Given the description of an element on the screen output the (x, y) to click on. 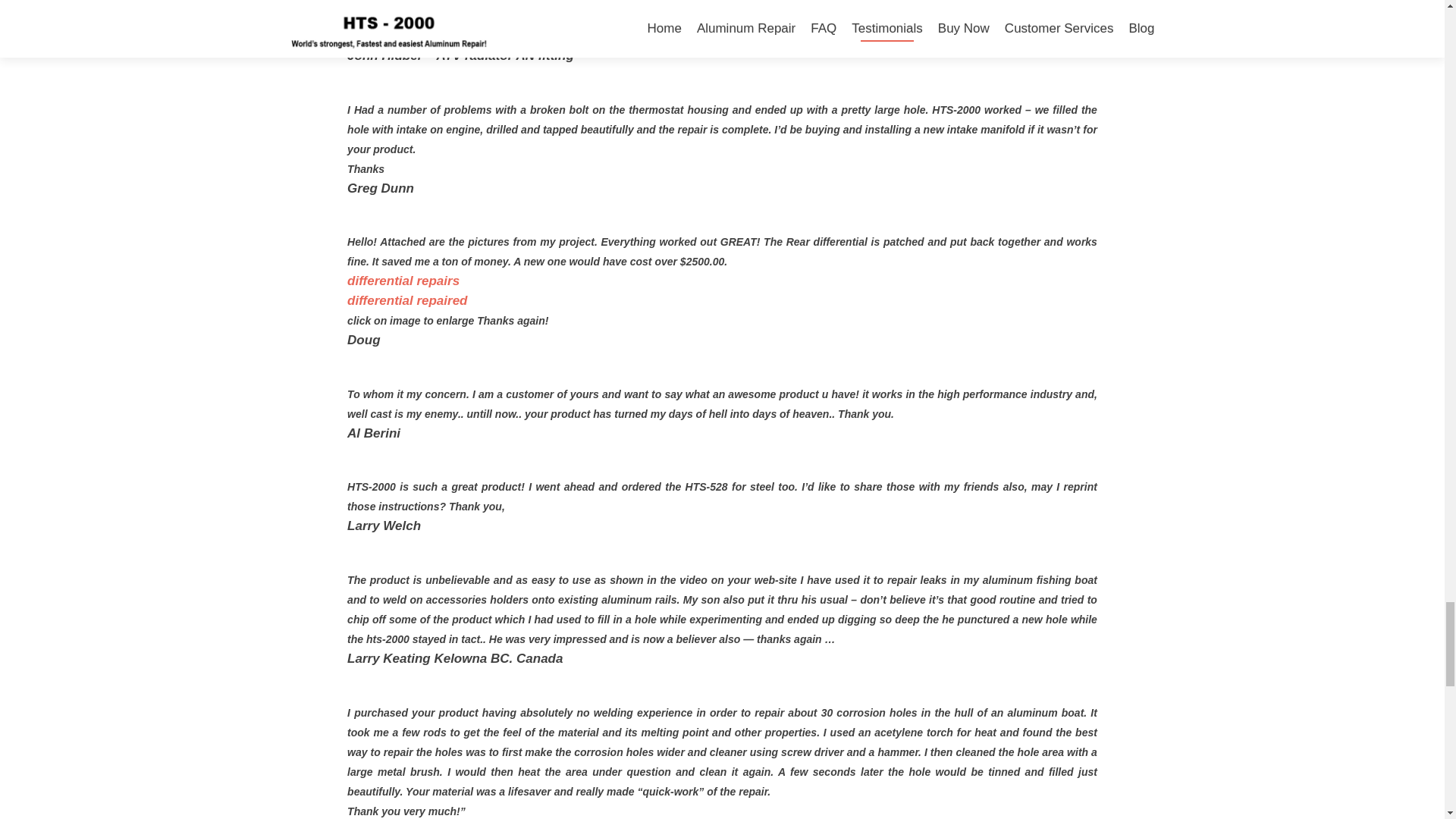
differential repaired (407, 300)
differential repairs (403, 280)
